Given the description of an element on the screen output the (x, y) to click on. 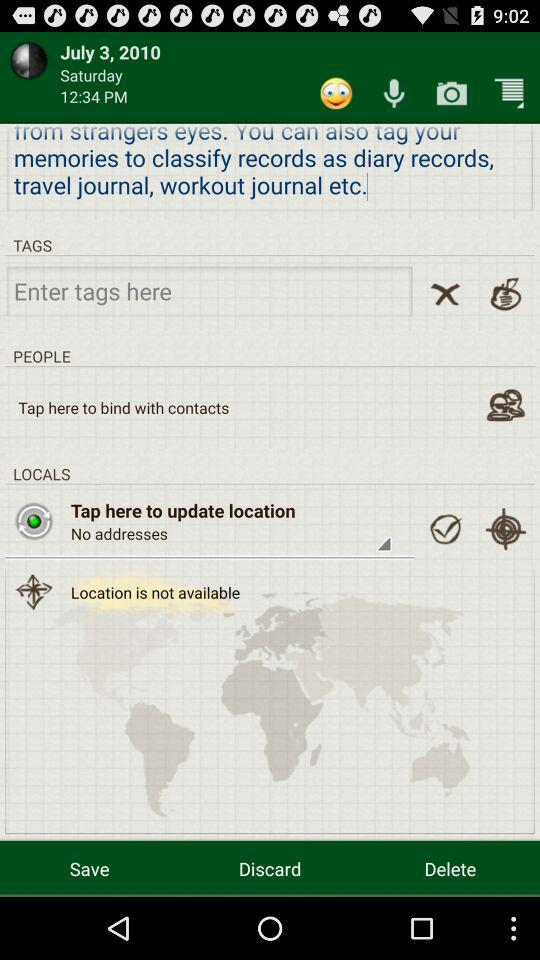
scroll to save item (89, 868)
